Given the description of an element on the screen output the (x, y) to click on. 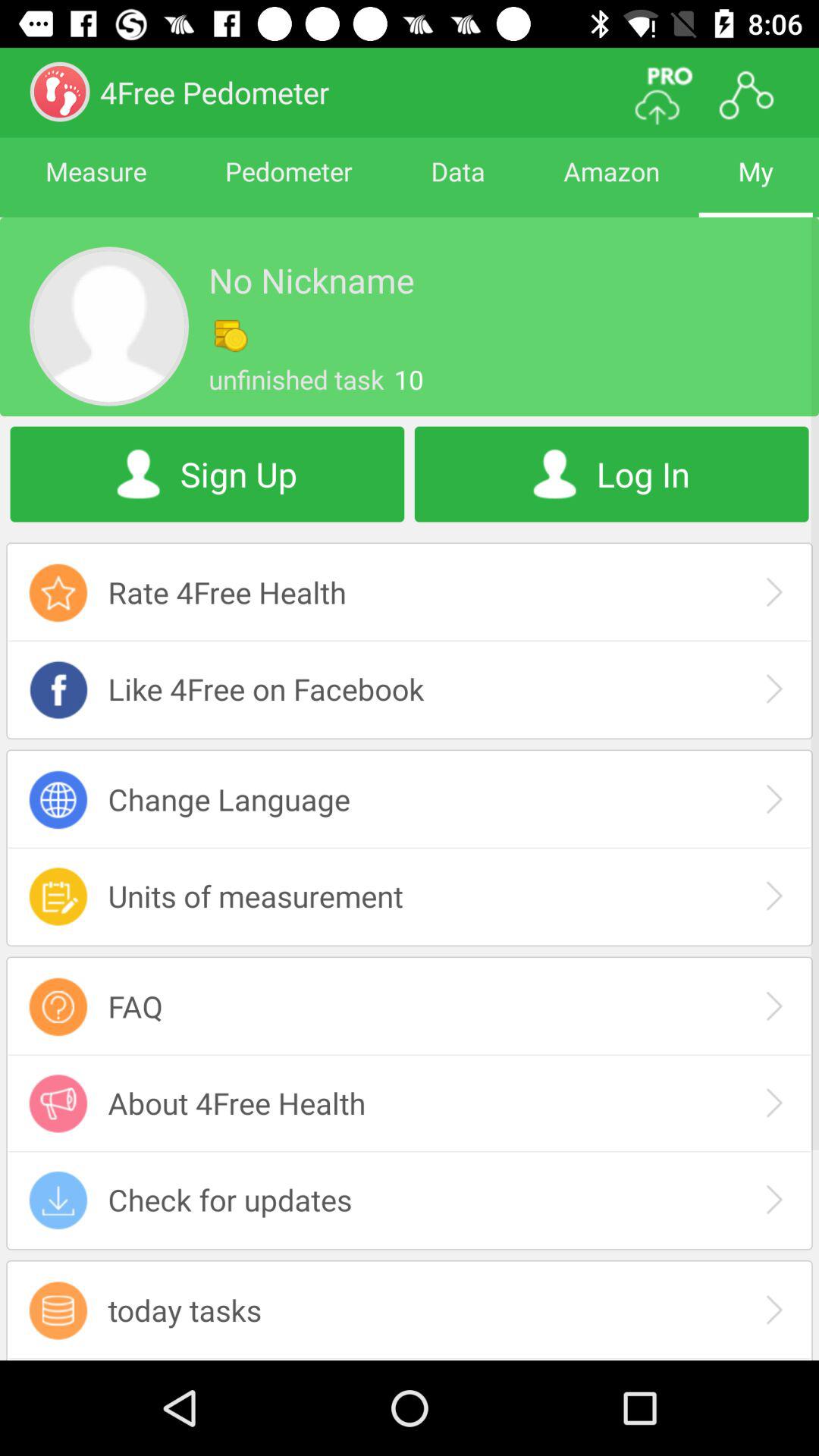
jump to today tasks icon (409, 1310)
